Given the description of an element on the screen output the (x, y) to click on. 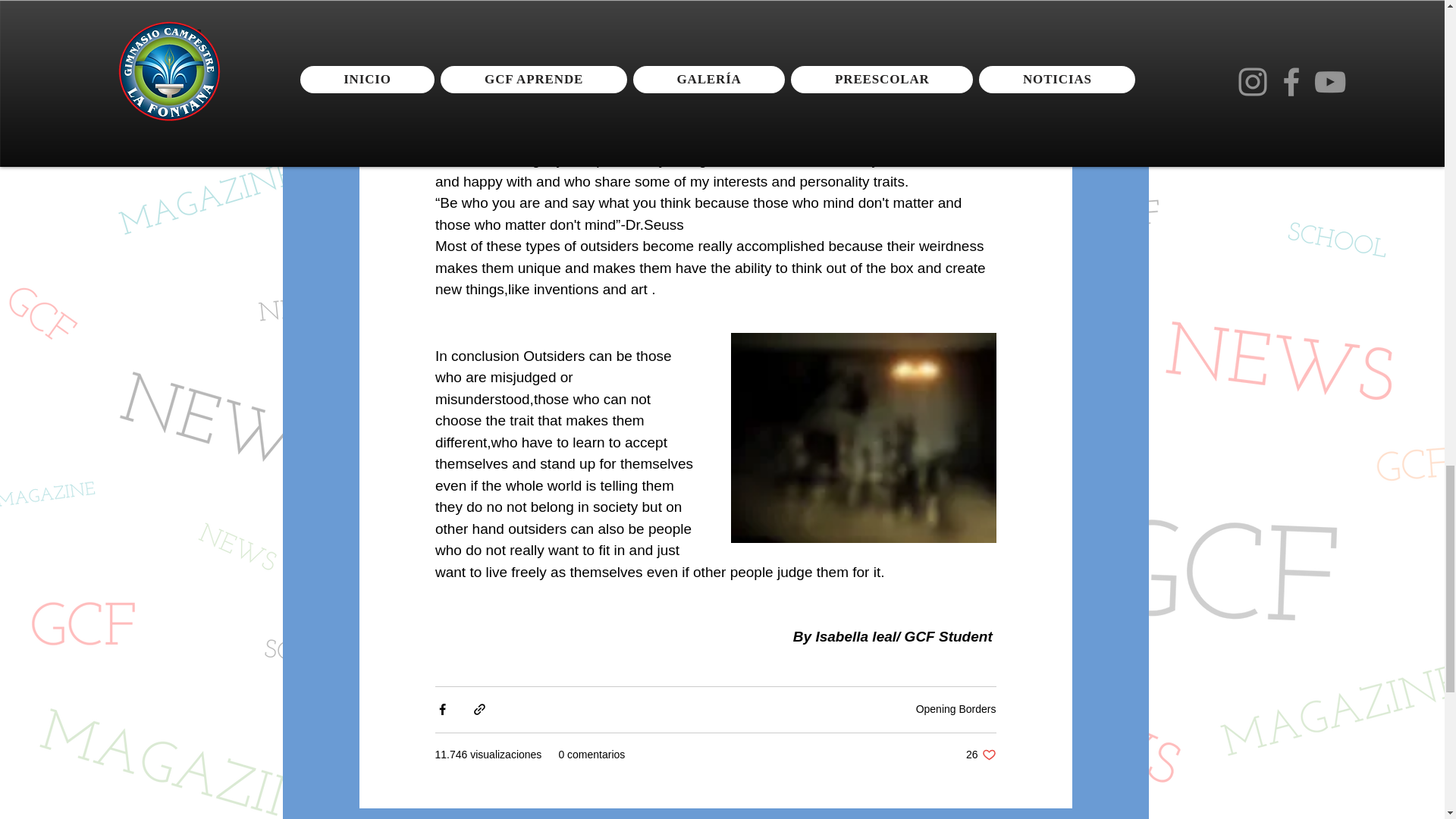
Opening Borders (980, 754)
